Given the description of an element on the screen output the (x, y) to click on. 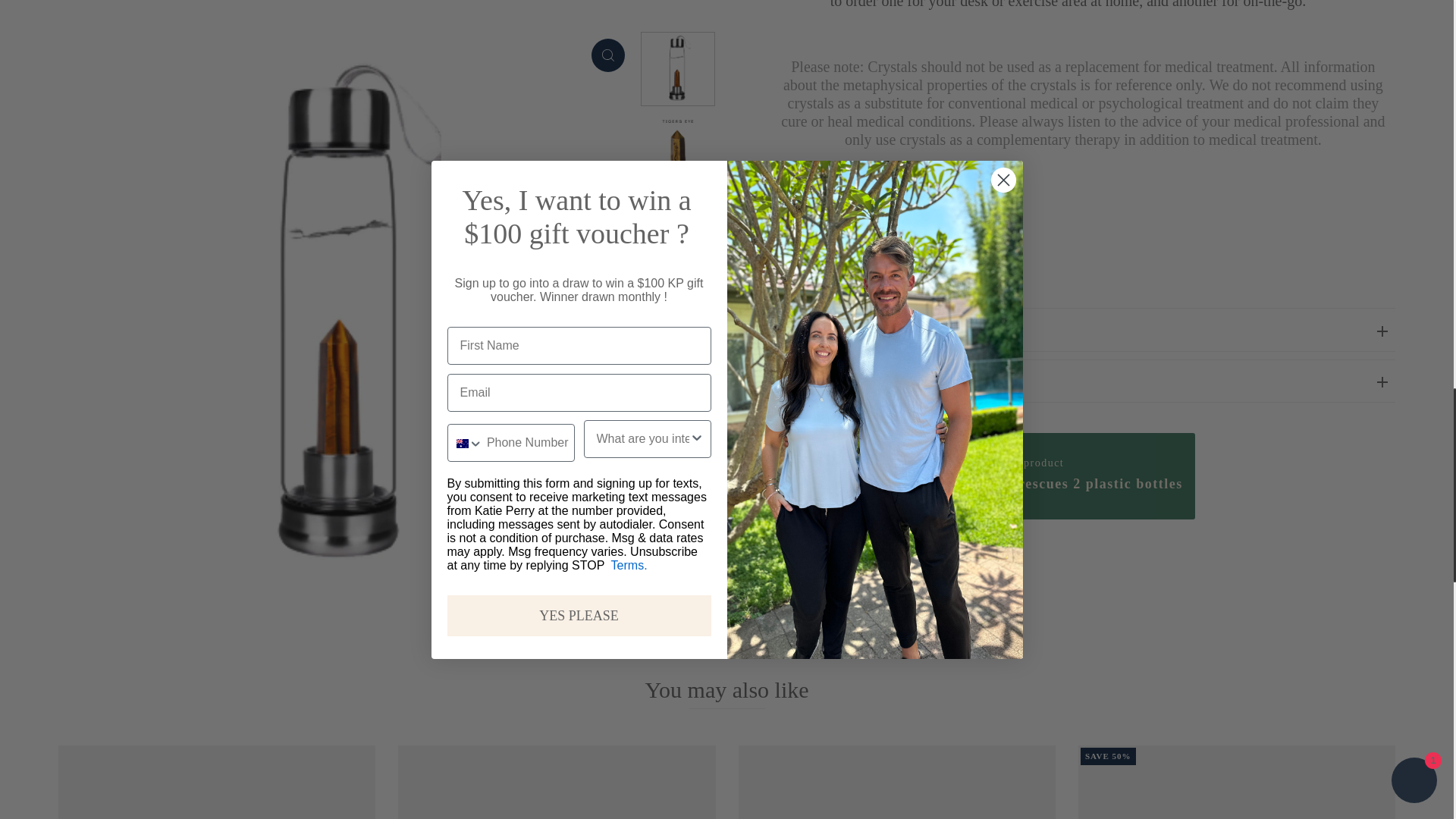
Superfine Merino Baby Blanket - Grey Marl (216, 782)
Share on Facebook (796, 569)
Paddington Pocket V- Hoodie (896, 782)
Limited Edition Bronte Cape (555, 782)
Slounge Crew Sweat (1236, 782)
Share on Pinterest (849, 569)
Share on Twitter (822, 569)
